Given the description of an element on the screen output the (x, y) to click on. 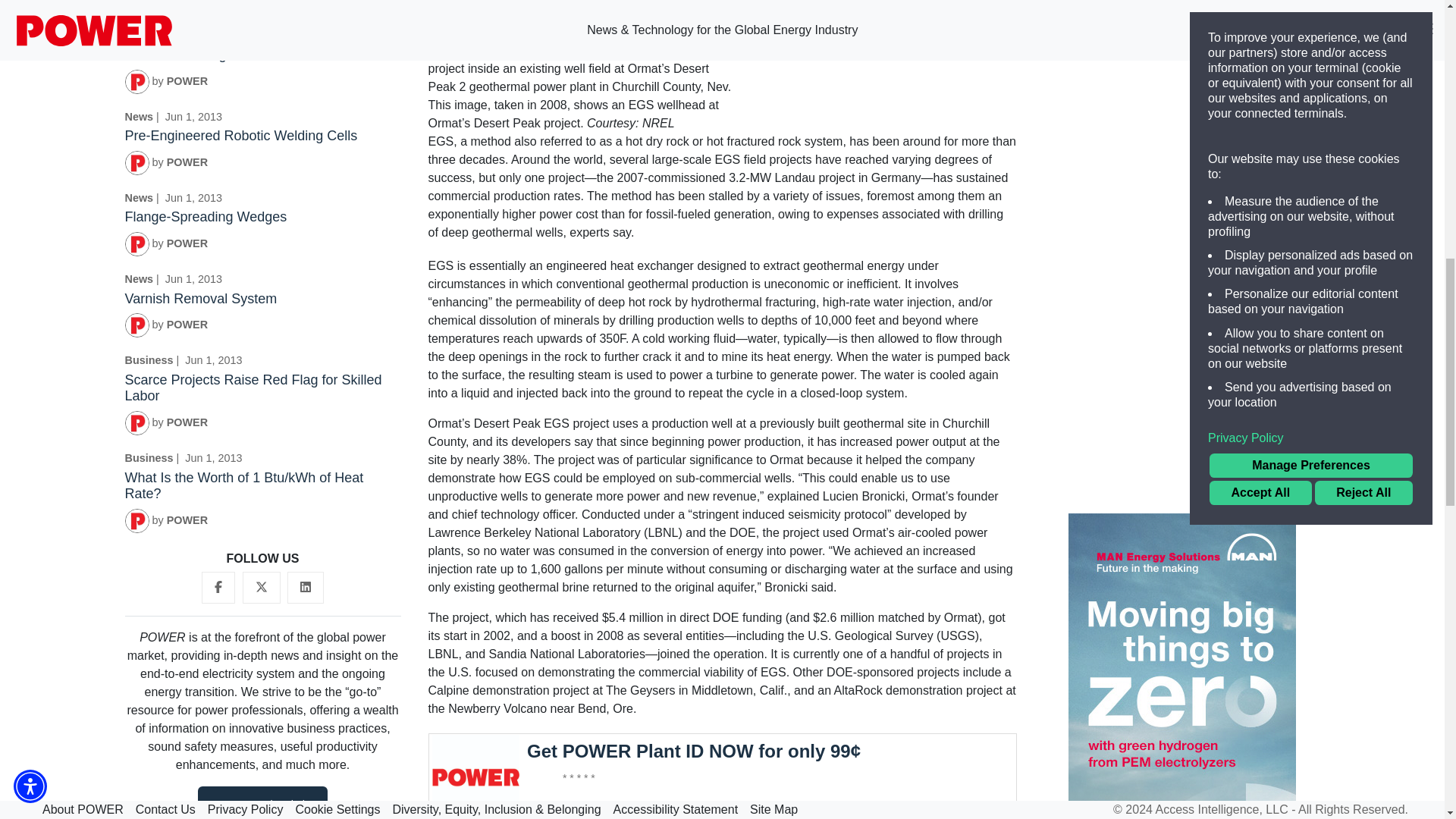
3rd party ad content (722, 776)
3rd party ad content (1181, 95)
